Given the description of an element on the screen output the (x, y) to click on. 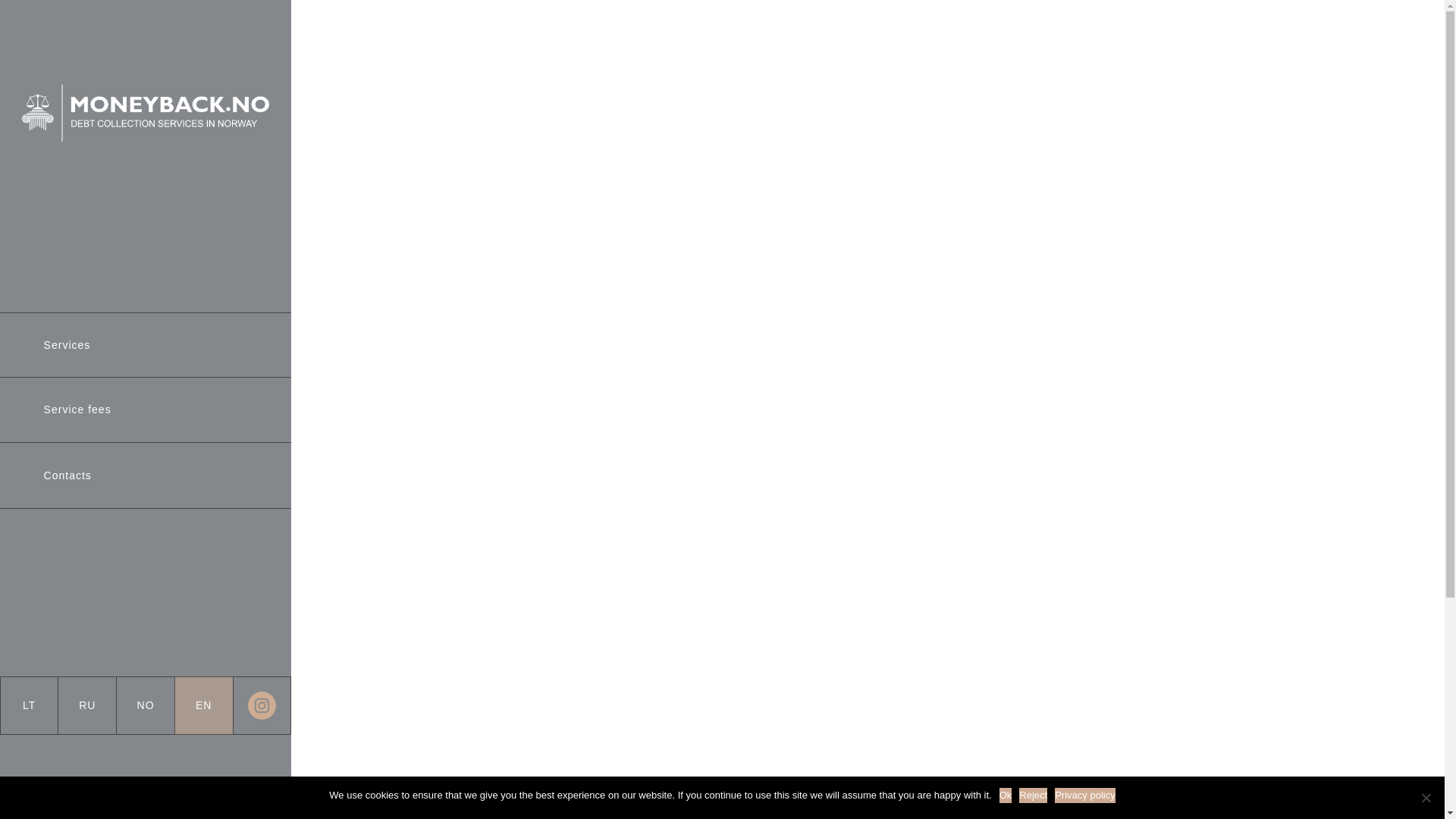
Contacts (67, 475)
Reject (1032, 795)
Reject (1425, 797)
LT (29, 705)
EN (203, 705)
Service fees (77, 409)
chathour com (679, 82)
NO (145, 705)
Services (66, 344)
RU (87, 705)
Privacy policy (1084, 795)
